Given the description of an element on the screen output the (x, y) to click on. 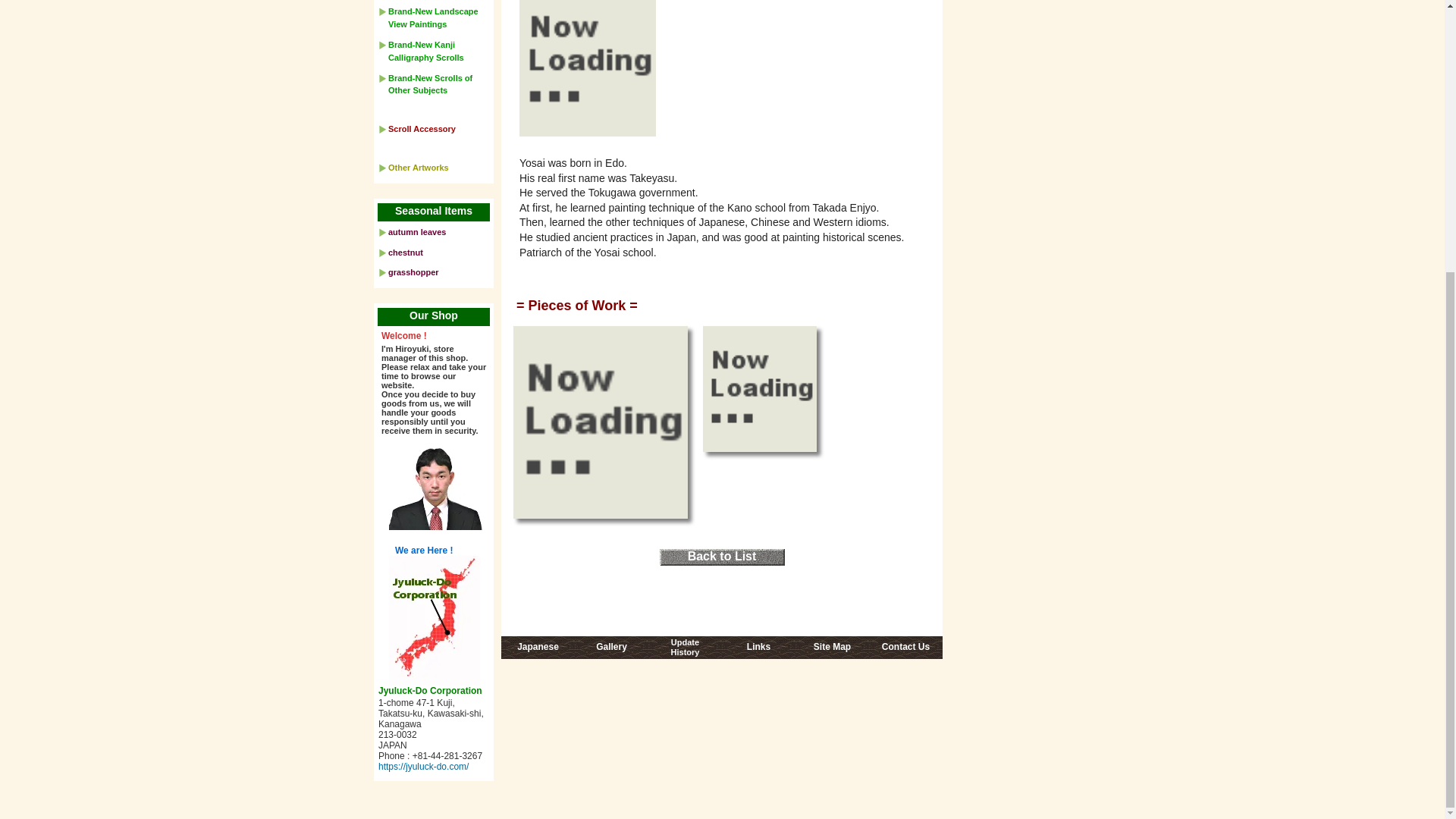
Japanese (684, 648)
grasshopper (537, 650)
autumn leaves (413, 271)
Back to List (416, 231)
Brand-New Scrolls of Other Subjects (721, 558)
Contact Us (429, 84)
chestnut (905, 650)
Site Map (405, 252)
Our Shop (831, 650)
Links (433, 316)
Other Artworks (758, 650)
Gallery (418, 166)
Seasonal Items (611, 650)
Brand-New Landscape View Paintings (433, 212)
